Given the description of an element on the screen output the (x, y) to click on. 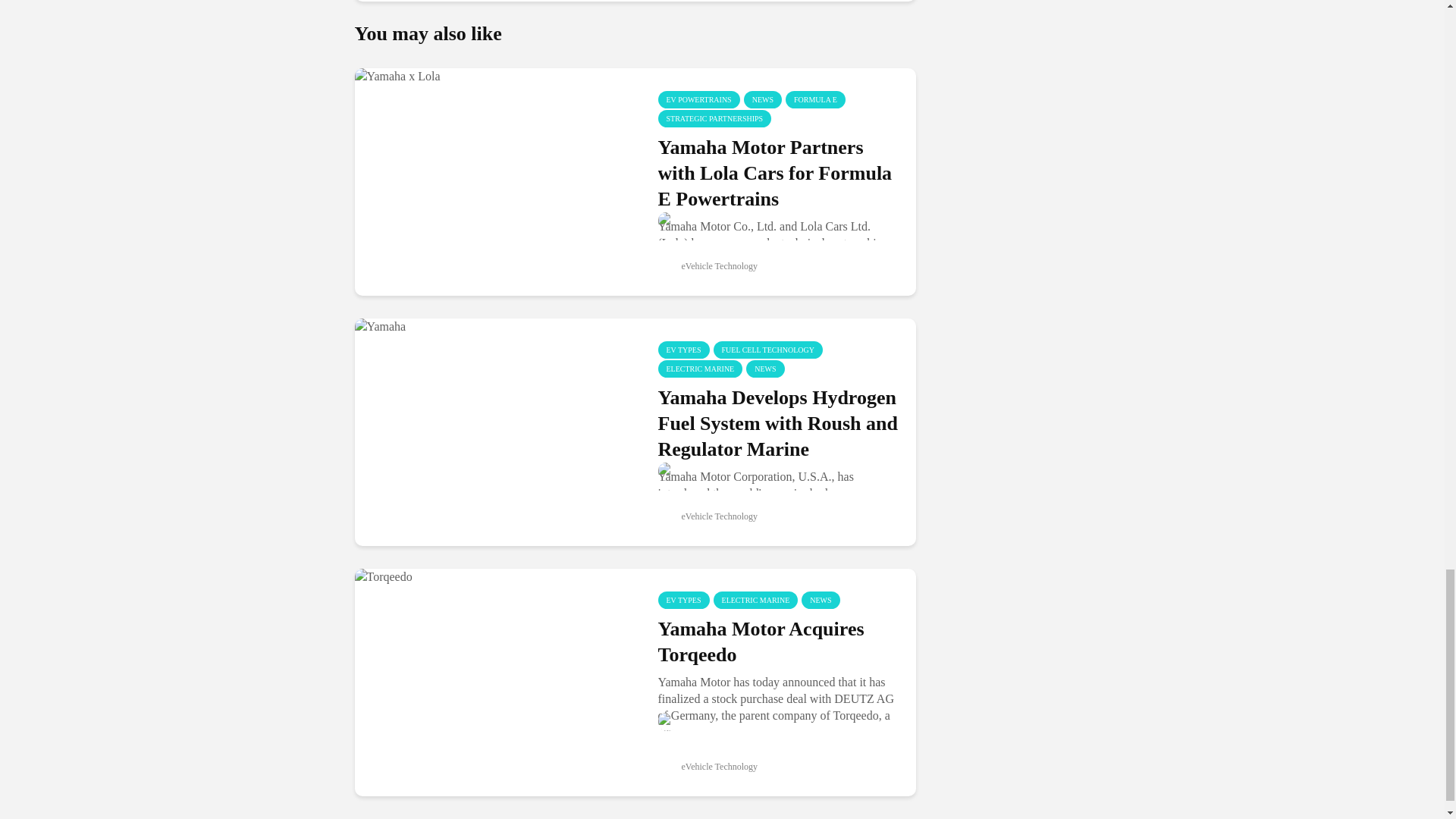
Yamaha Motor Acquires Torqeedo (494, 682)
